Given the description of an element on the screen output the (x, y) to click on. 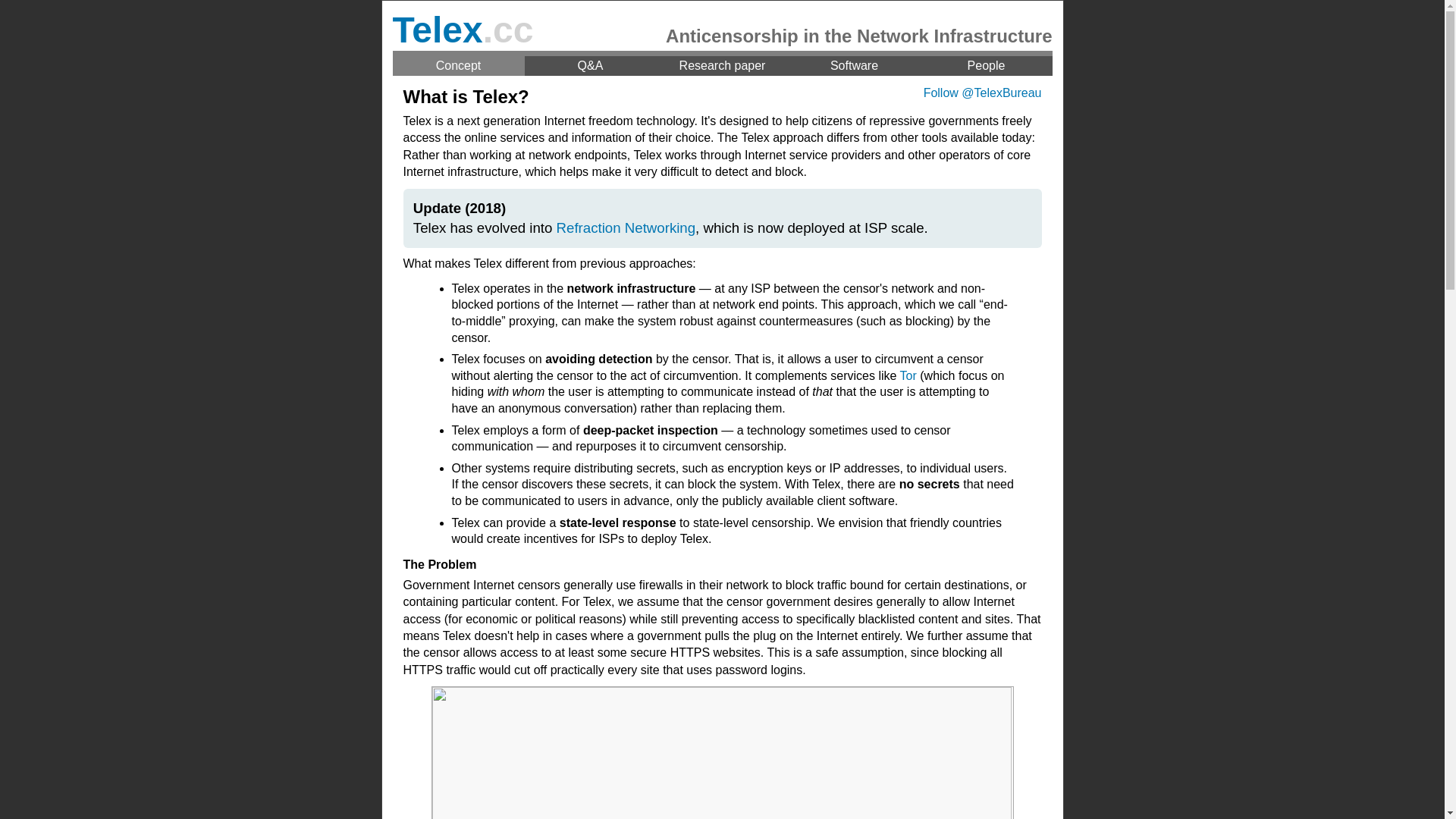
Concept Element type: text (458, 65)
Follow @TelexBureau Element type: text (982, 92)
Q&A Element type: text (590, 65)
Telex Element type: text (437, 29)
People Element type: text (986, 65)
Research paper Element type: text (722, 65)
Software Element type: text (854, 65)
Tor Element type: text (908, 375)
Refraction Networking Element type: text (626, 227)
